Given the description of an element on the screen output the (x, y) to click on. 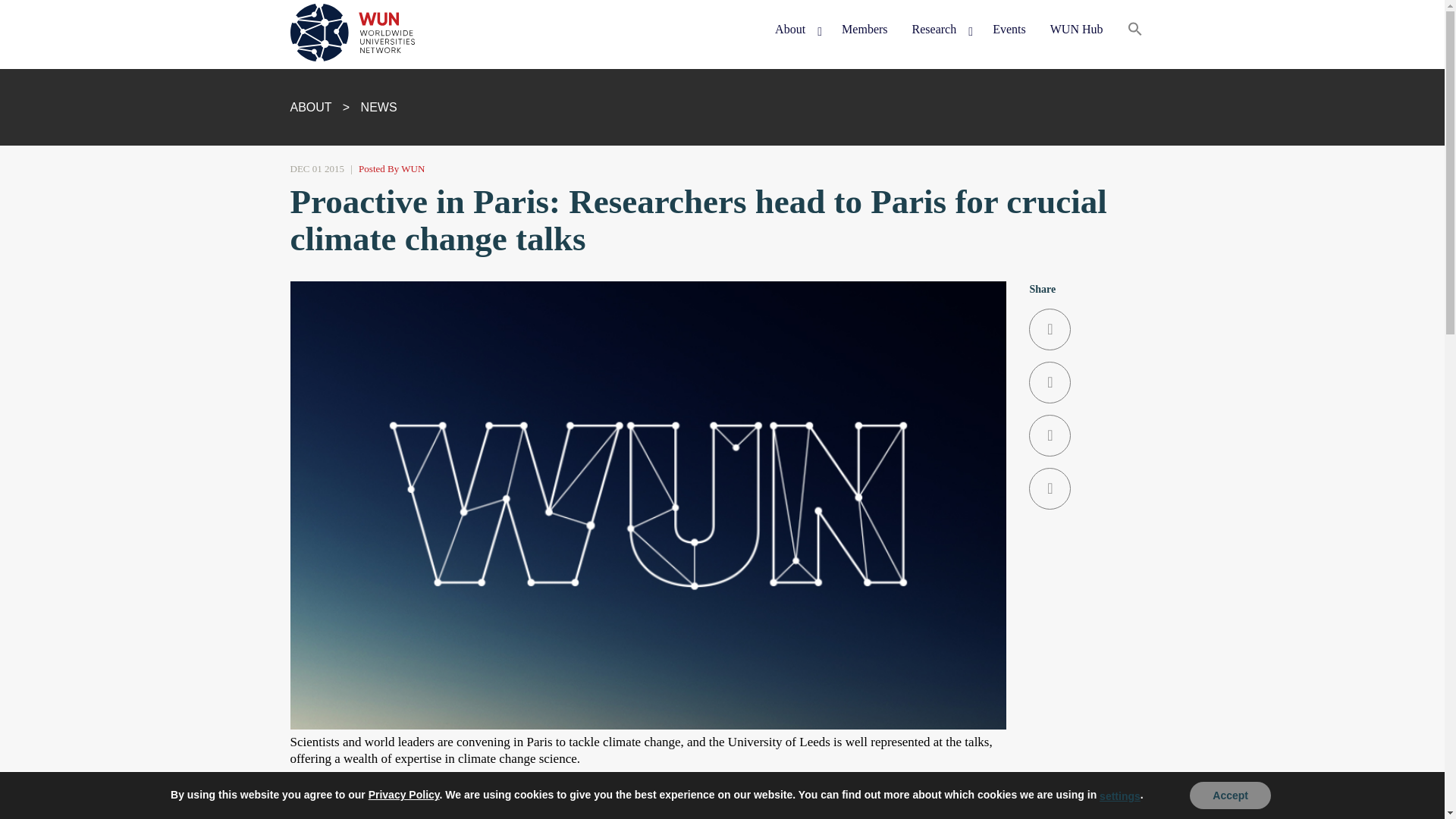
Share by Email (1091, 488)
Events (1008, 29)
WUN Hub (1076, 29)
Members (864, 29)
Research (940, 29)
WUN (318, 83)
About (795, 29)
